Given the description of an element on the screen output the (x, y) to click on. 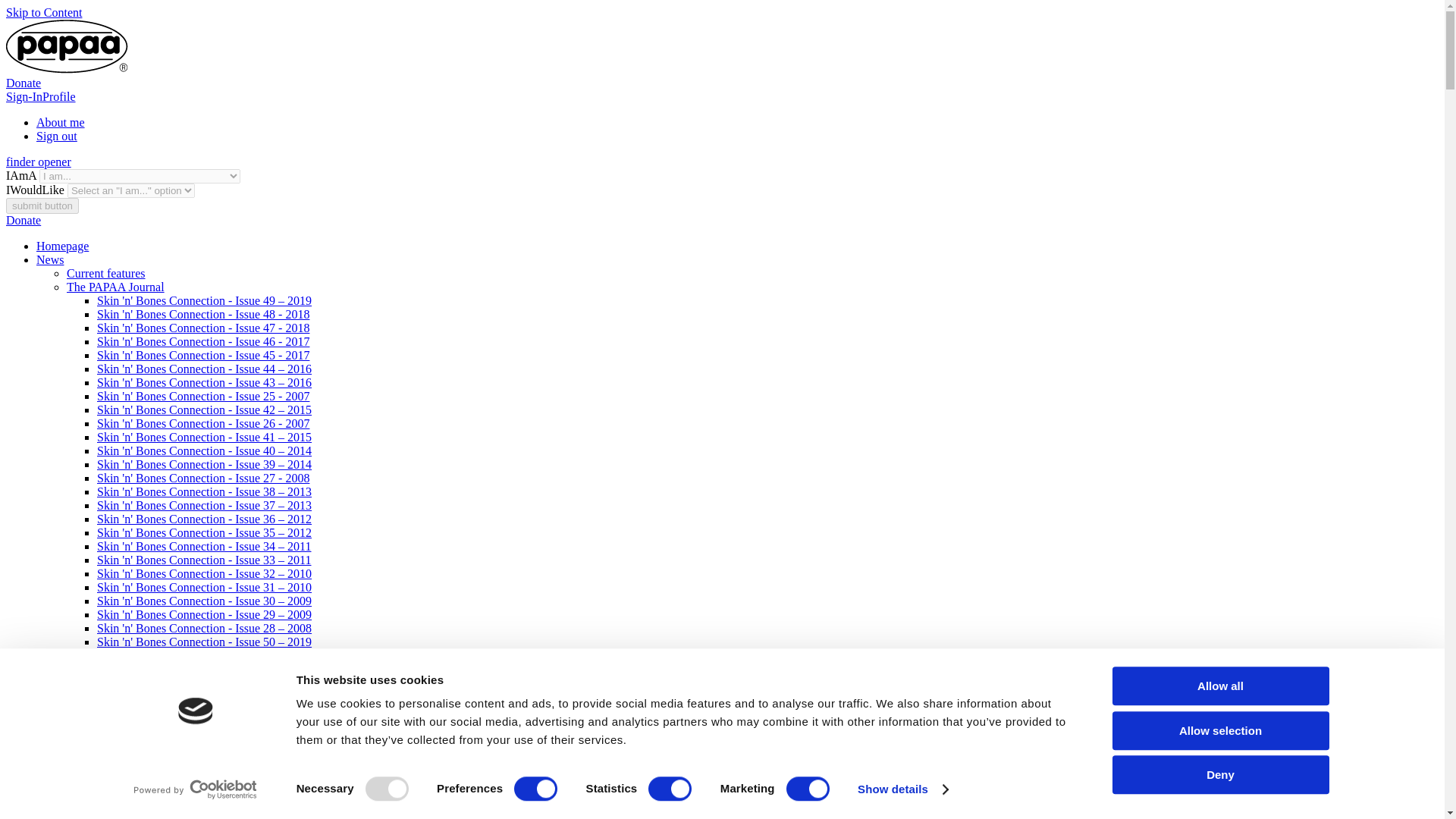
Donate (22, 82)
Deny (1219, 774)
Allow selection (1219, 730)
Skip to Content (43, 11)
Sign-InProfile (40, 96)
Allow all (1219, 685)
Show details (902, 789)
